Given the description of an element on the screen output the (x, y) to click on. 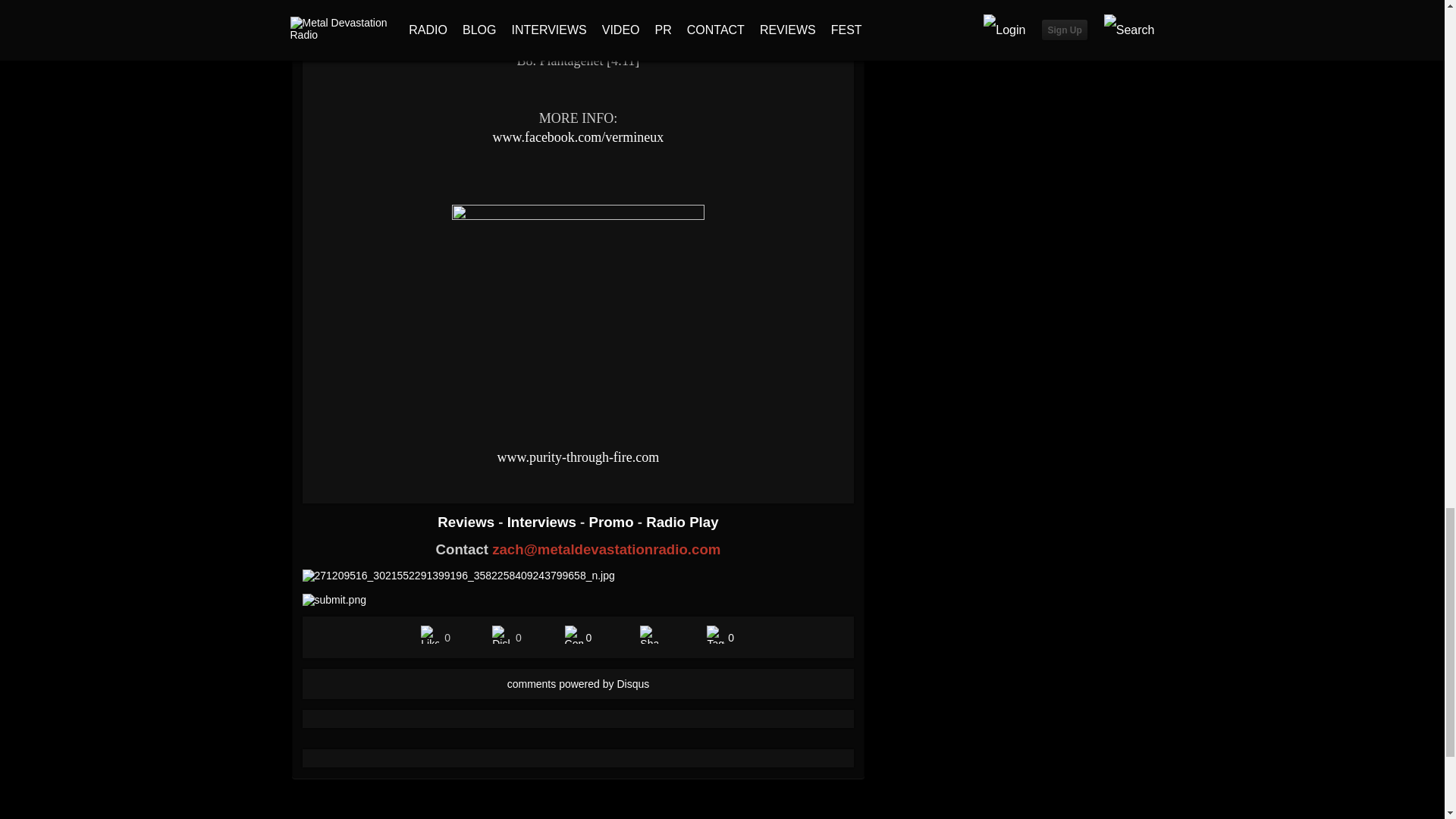
Share This with your Followers (649, 634)
Radio Play (681, 521)
Like (429, 634)
Reviews (467, 521)
Tag (715, 634)
Post Your Comment (573, 634)
Promo (612, 521)
Dislike (501, 634)
Interviews (542, 521)
www.purity-through-fire.com (578, 457)
